Given the description of an element on the screen output the (x, y) to click on. 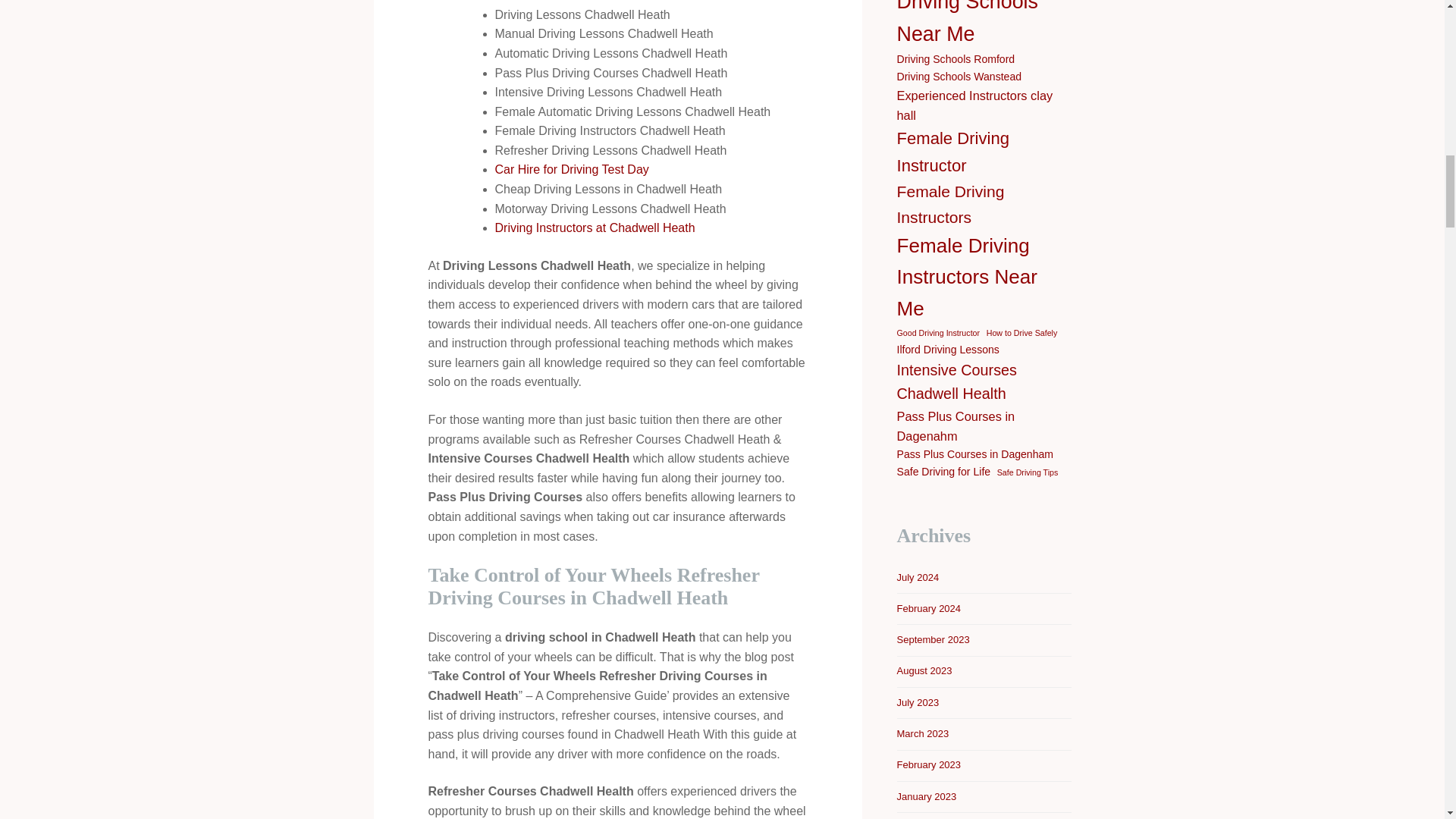
Car Hire for Driving Test Day (571, 169)
Driving Instructors at Chadwell Heath (594, 228)
